Given the description of an element on the screen output the (x, y) to click on. 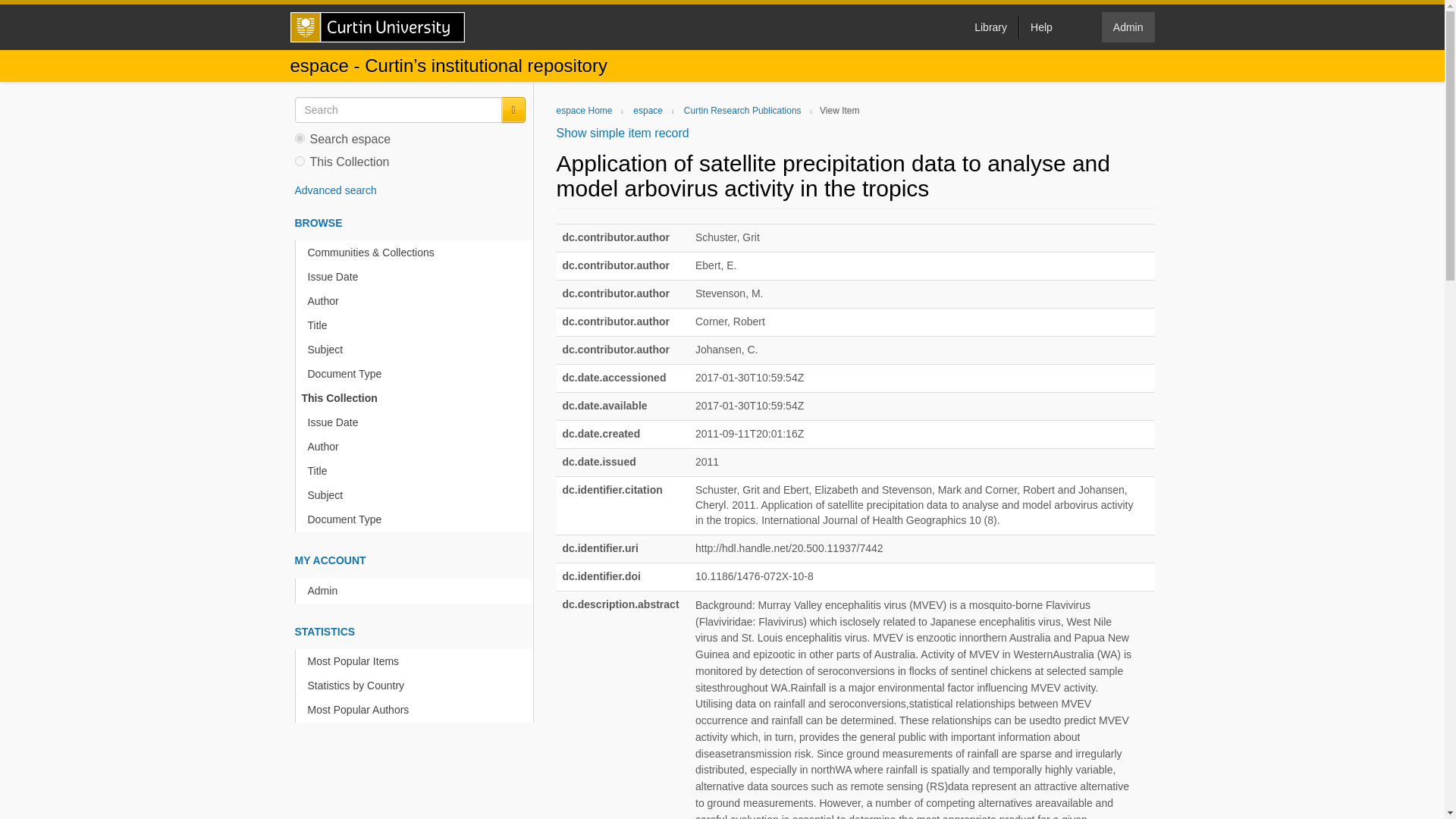
Subject (416, 495)
Document Type (416, 373)
Admin (416, 590)
Issue Date (416, 422)
Admin (1128, 27)
Title (416, 325)
Show simple item record (622, 132)
Issue Date (416, 276)
Advanced search (334, 190)
Go (512, 109)
Library (989, 26)
Document Type (416, 519)
Help (1040, 26)
Title (416, 471)
Subject (416, 349)
